Given the description of an element on the screen output the (x, y) to click on. 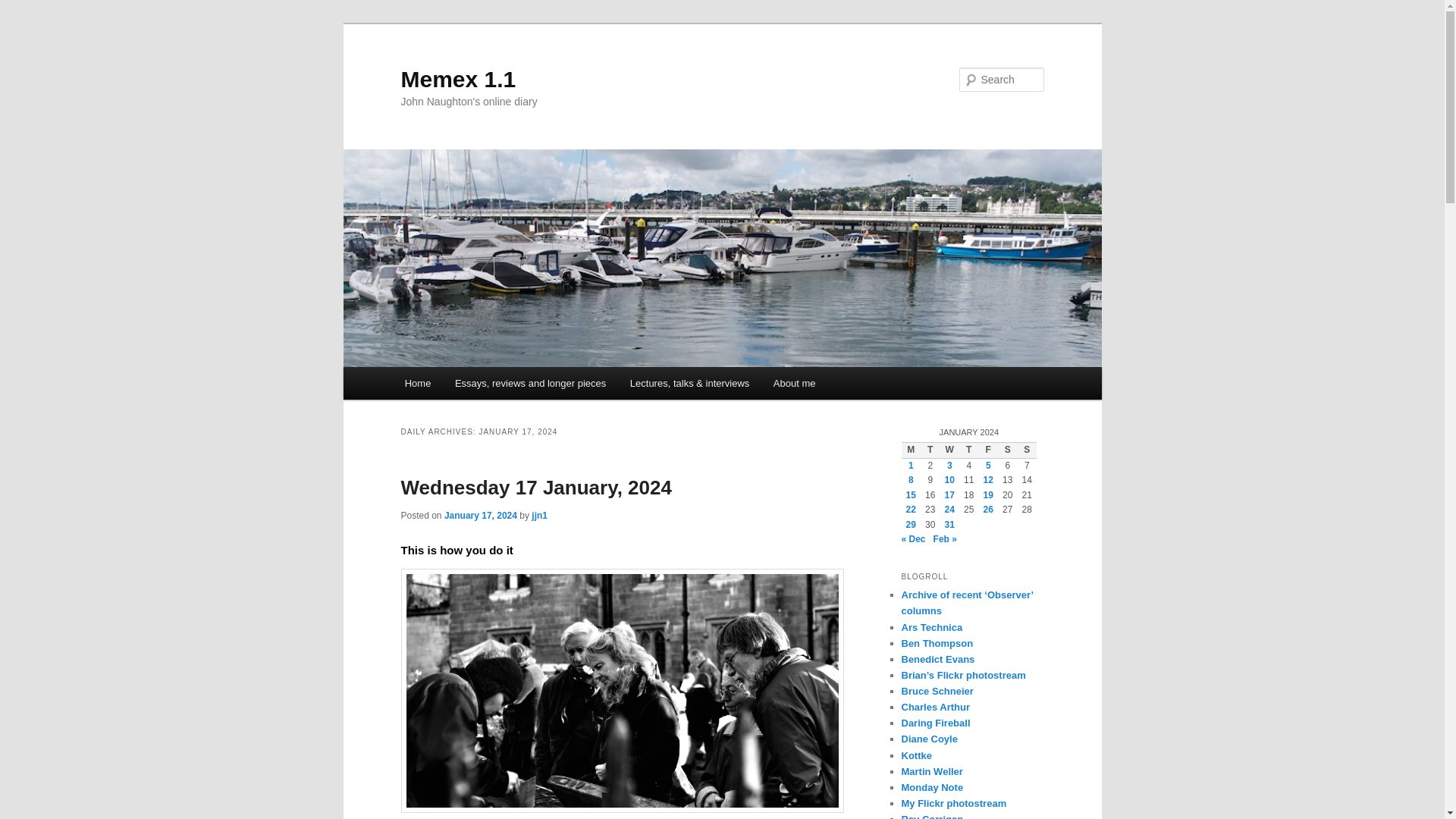
15 (910, 494)
Memex 1.1 (457, 78)
Search (24, 8)
Tuesday (930, 450)
Thursday (968, 450)
17 (949, 494)
22 (910, 509)
19 (988, 494)
Wednesday 17 January, 2024 (535, 486)
January 17, 2024 (480, 515)
Ben Thompson (936, 643)
12 (988, 480)
10 (949, 480)
24 (949, 509)
